Given the description of an element on the screen output the (x, y) to click on. 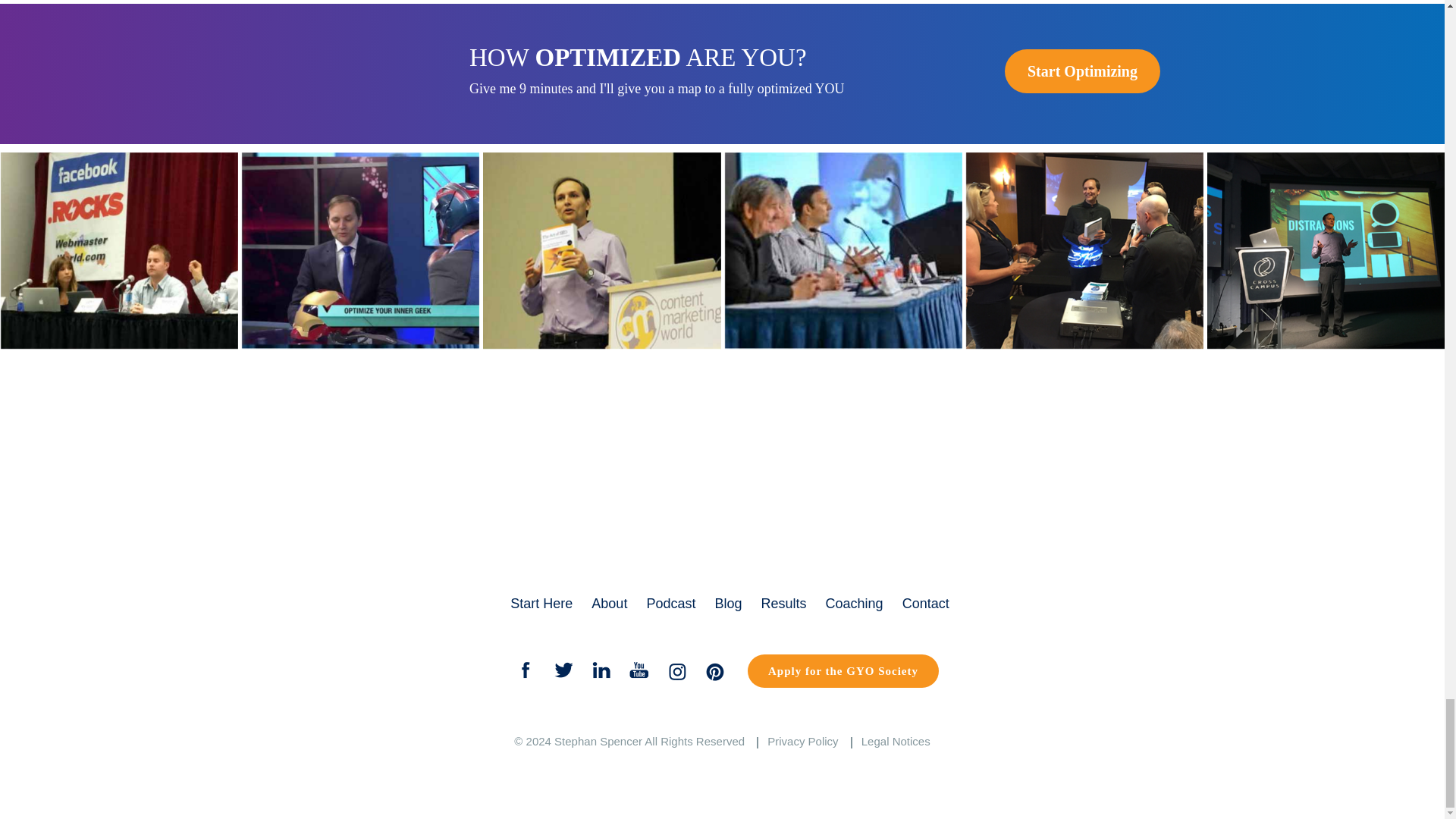
Podcast (670, 603)
Start Optimizing (1082, 71)
Start Here (541, 603)
About (609, 603)
